Given the description of an element on the screen output the (x, y) to click on. 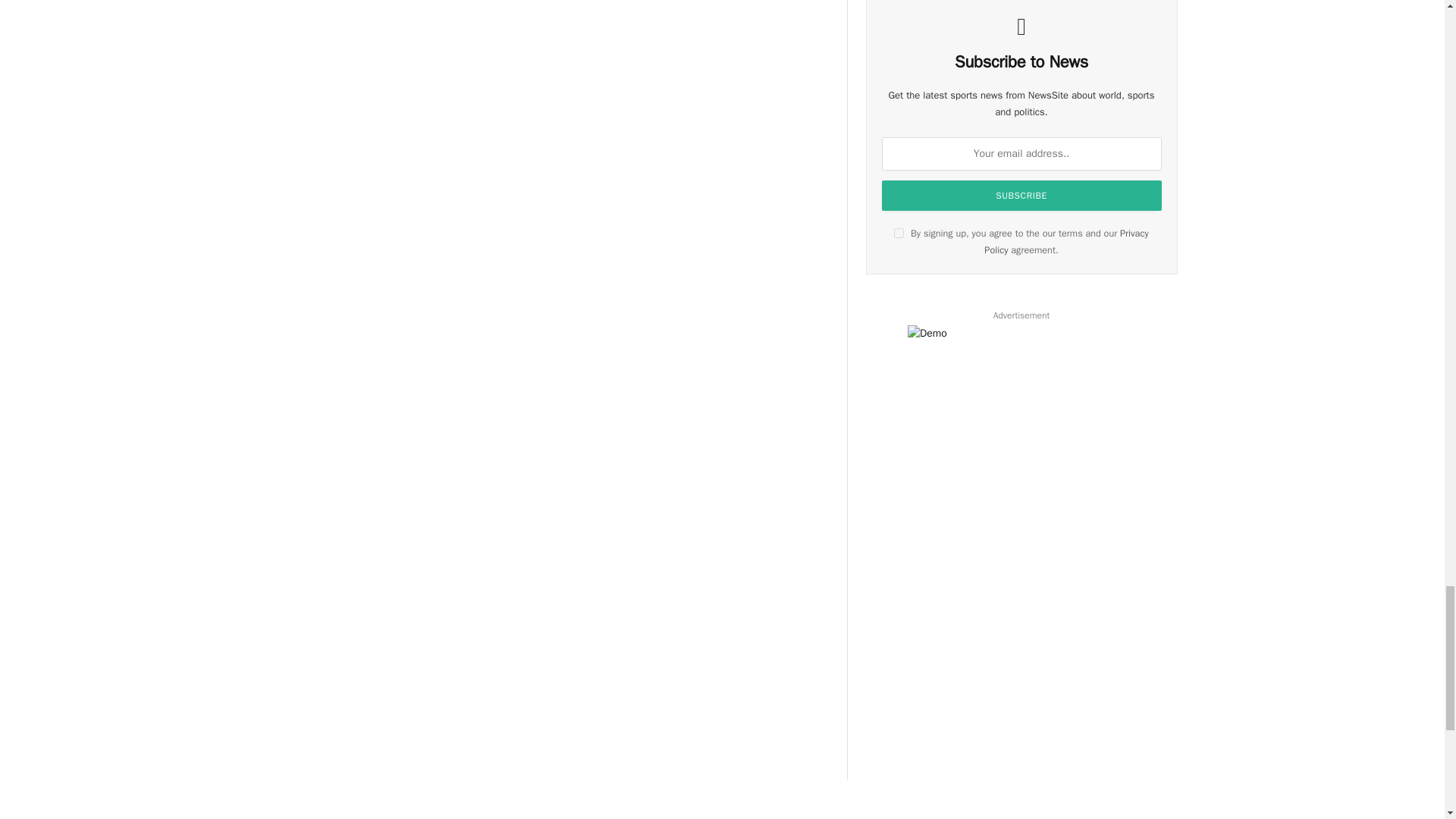
on (898, 233)
Subscribe (1021, 195)
